Given the description of an element on the screen output the (x, y) to click on. 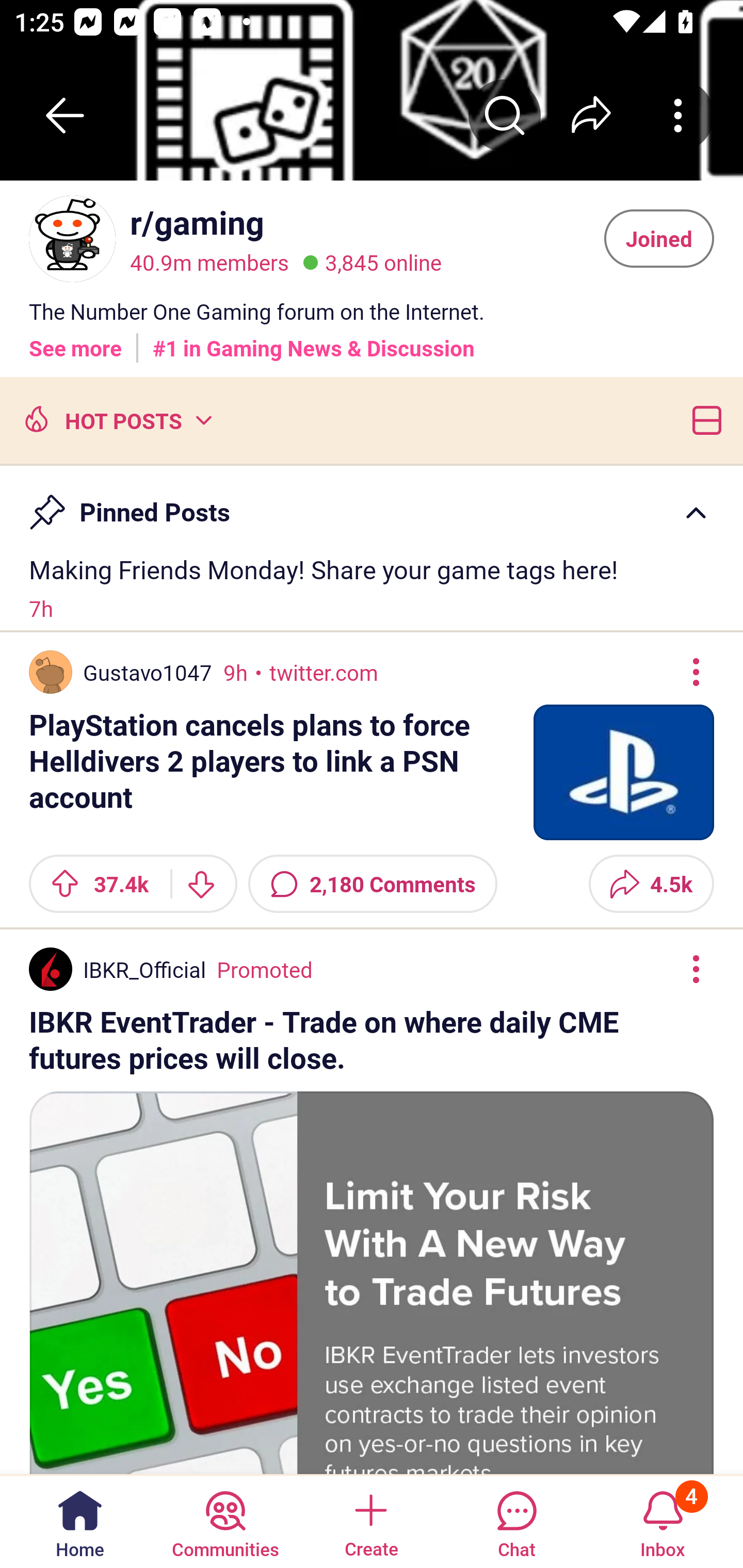
Back (64, 115)
Search r/﻿gaming (504, 115)
Share r/﻿gaming (591, 115)
More community actions (677, 115)
Hot posts HOT POSTS (116, 419)
Card (703, 419)
Pin Pinned Posts Caret (371, 503)
Home (80, 1520)
Communities (225, 1520)
Create a post Create (370, 1520)
Chat (516, 1520)
Inbox, has 4 notifications 4 Inbox (662, 1520)
